Given the description of an element on the screen output the (x, y) to click on. 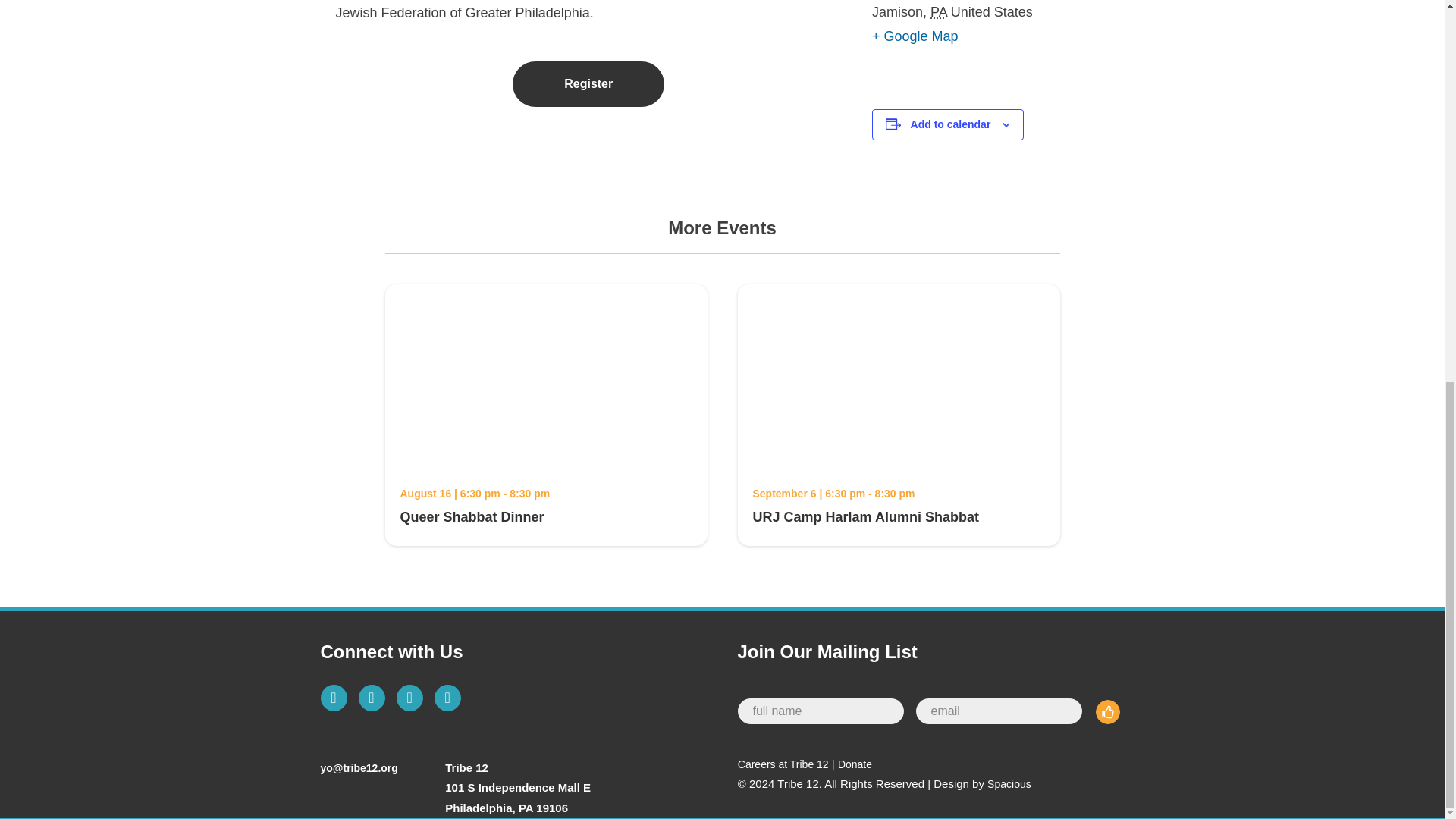
Pennsylvania (938, 11)
URJ Camp Harlam Alumni Shabbat (897, 460)
Queer Shabbat Dinner (472, 516)
Click to view a Google Map (915, 36)
Queer Shabbat Dinner (472, 516)
Register (587, 84)
URJ Camp Harlam Alumni Shabbat (865, 516)
Queer Shabbat Dinner (546, 460)
URJ Camp Harlam Alumni Shabbat (865, 516)
Add to calendar (951, 123)
